Given the description of an element on the screen output the (x, y) to click on. 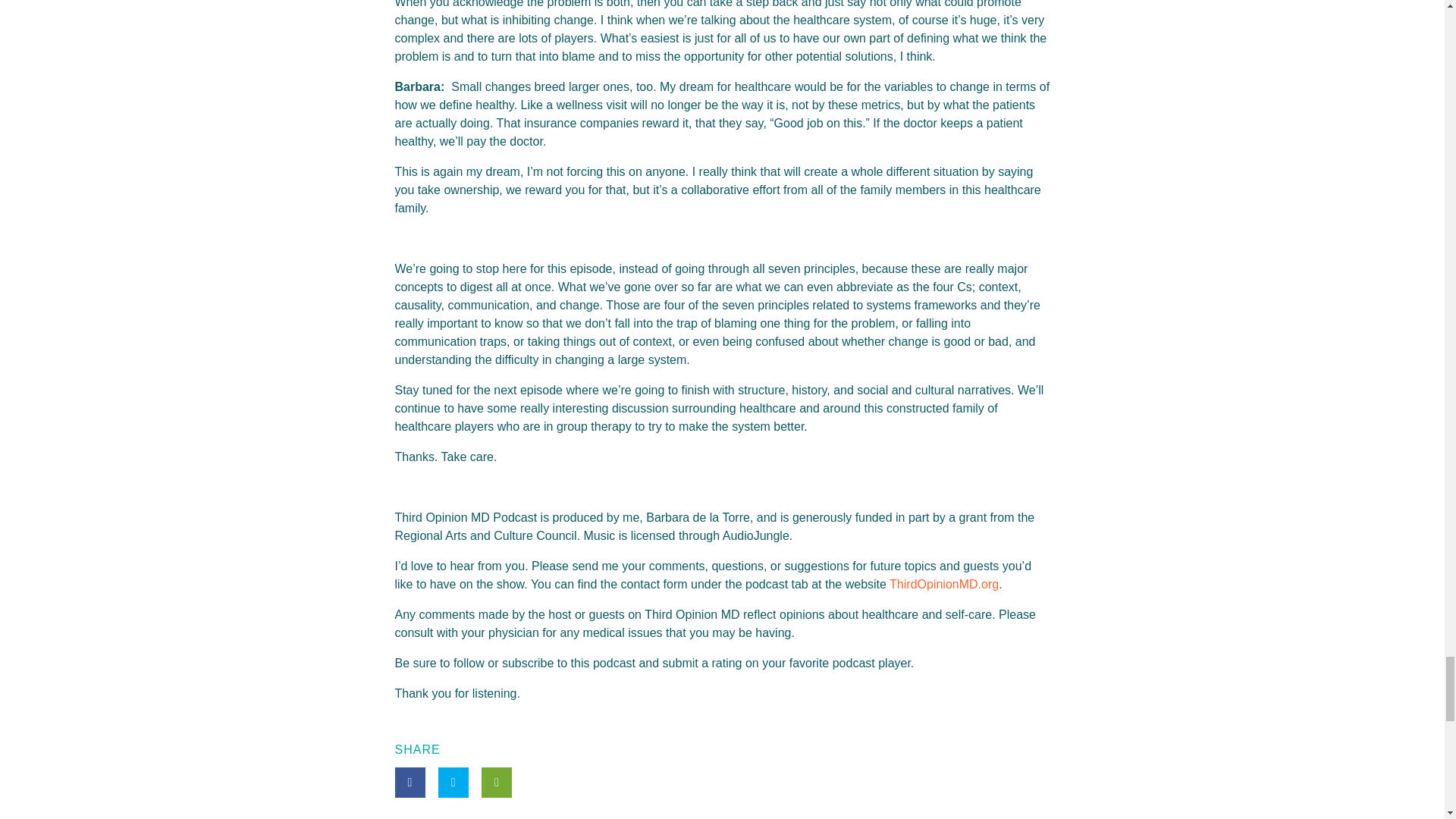
ThirdOpinionMD.org (942, 584)
